Given the description of an element on the screen output the (x, y) to click on. 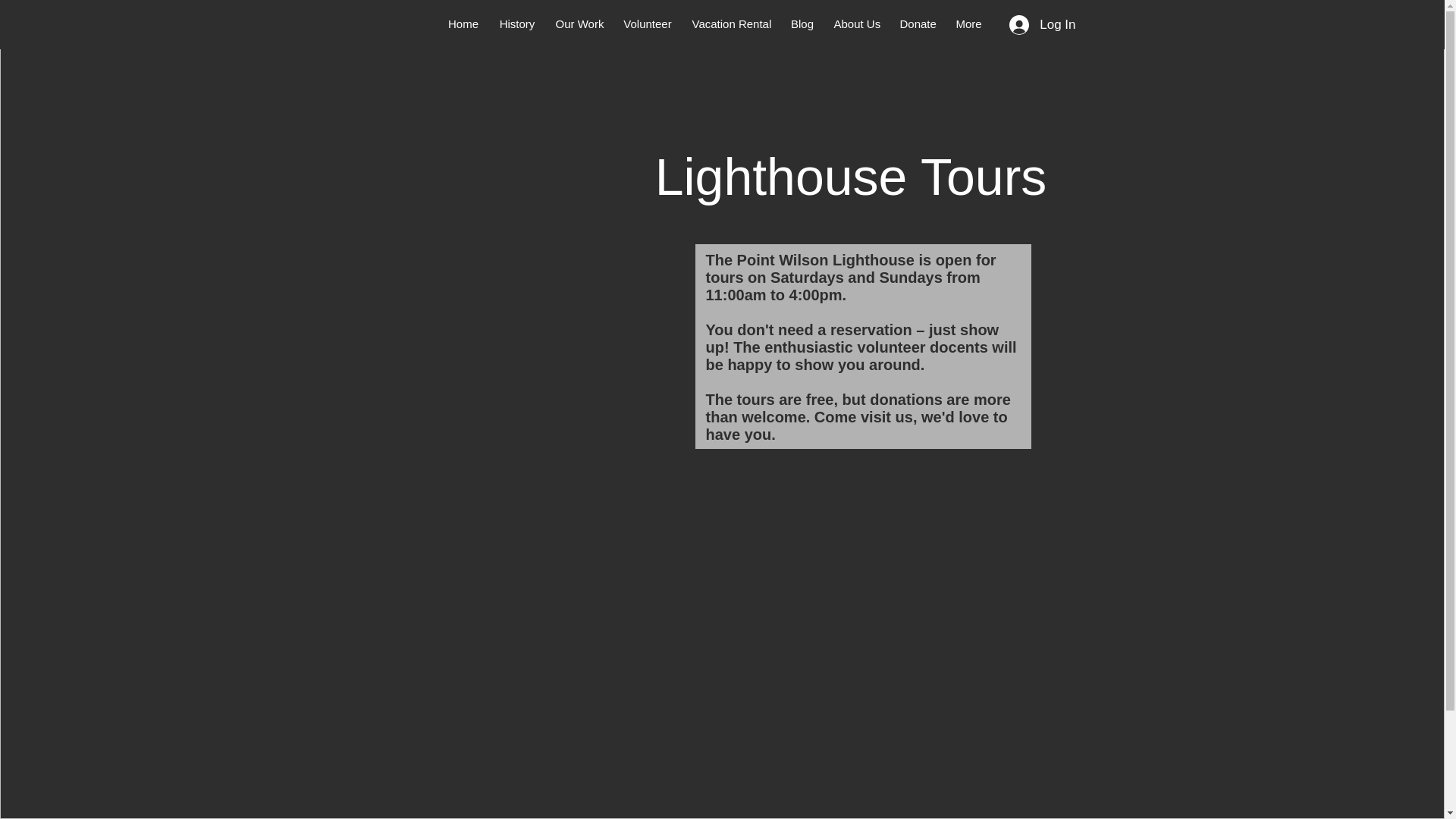
Vacation Rental (731, 24)
About Us (856, 24)
Volunteer (646, 24)
Home (463, 24)
Our Work (579, 24)
Donate (917, 24)
Blog (802, 24)
History (515, 24)
Log In (1042, 24)
